Given the description of an element on the screen output the (x, y) to click on. 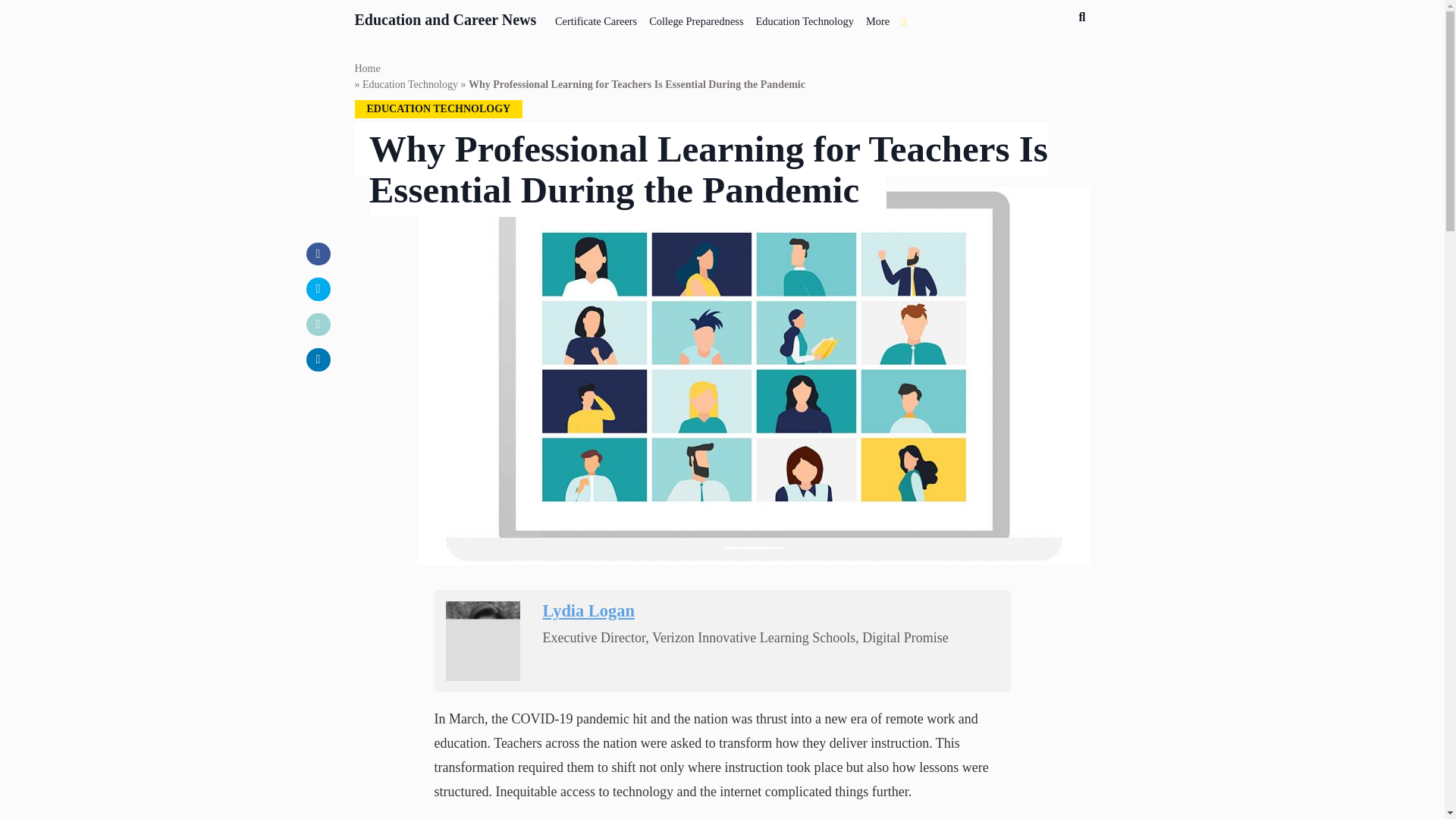
College Preparedness (696, 18)
More (877, 18)
Certificate Careers (595, 18)
Education Technology (804, 18)
Education and Career News (446, 17)
